Given the description of an element on the screen output the (x, y) to click on. 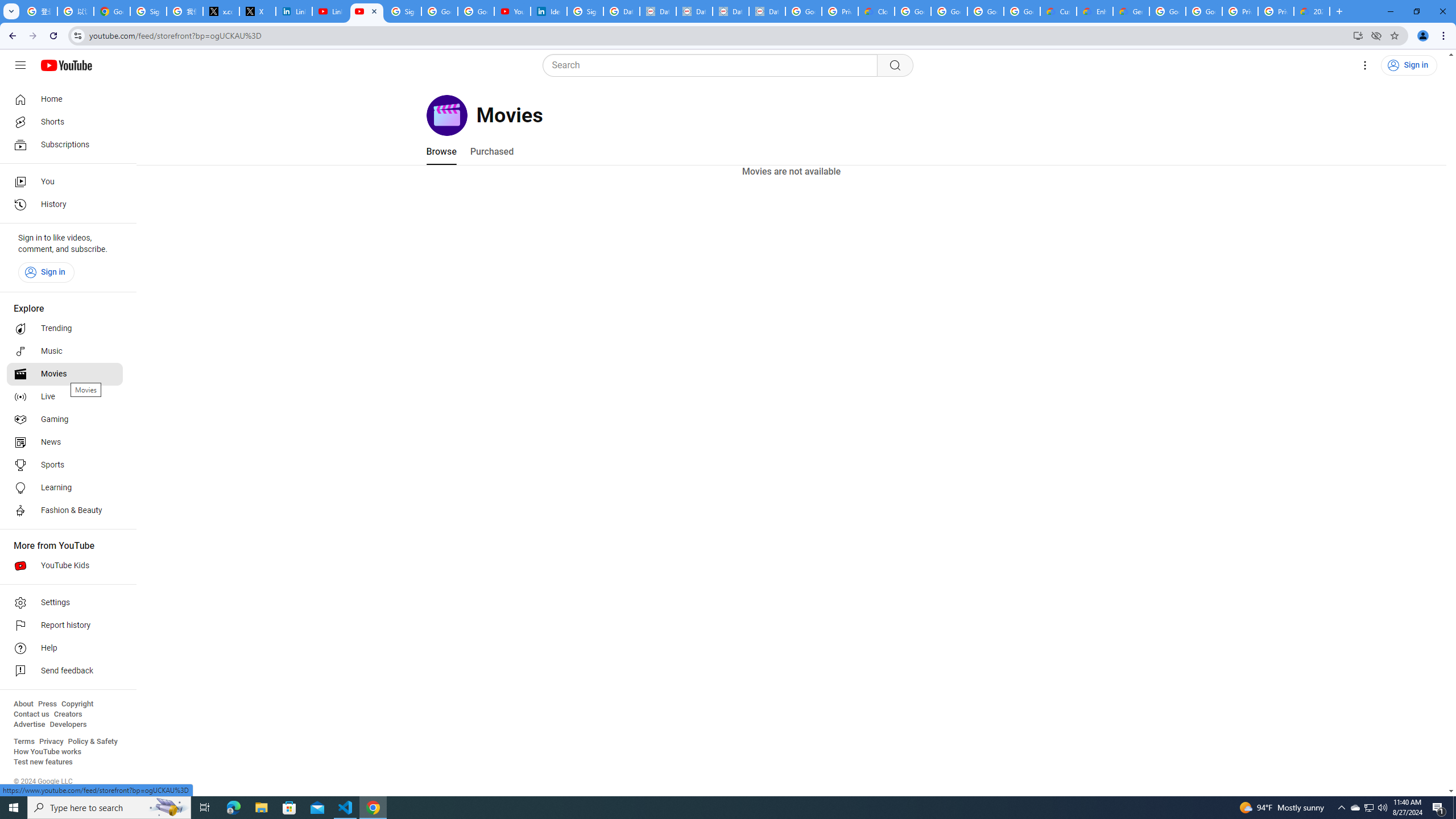
Creators (67, 714)
News (64, 441)
Press (46, 703)
Advertise (29, 724)
Google Cloud Platform (1203, 11)
Contact us (31, 714)
Send feedback (64, 671)
